Given the description of an element on the screen output the (x, y) to click on. 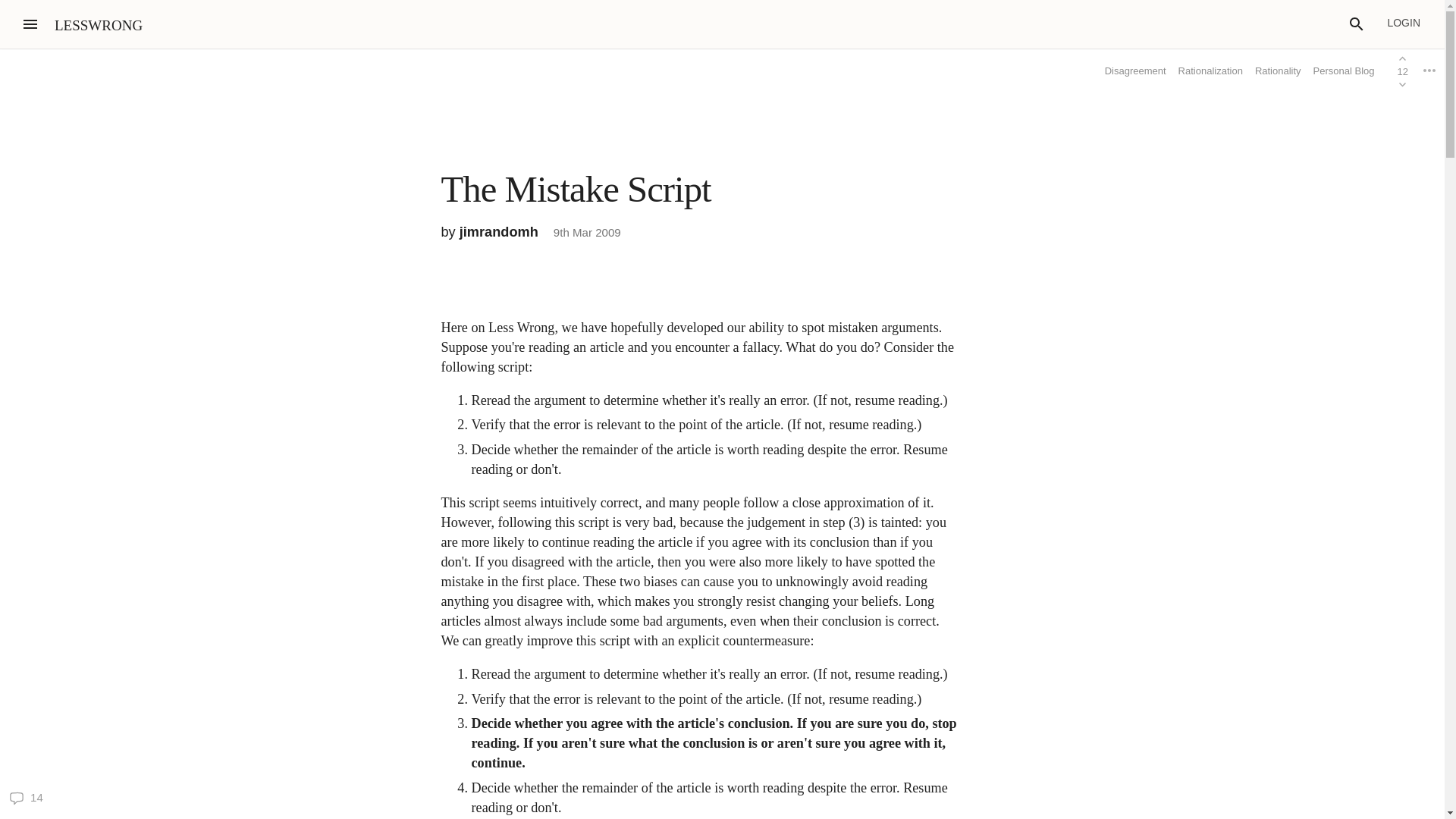
Personal Blog (1343, 70)
jimrandomh (499, 231)
Rationality (1278, 70)
The Mistake Script (576, 188)
LOGIN (1403, 22)
Disagreement (1135, 70)
LESSWRONG (98, 25)
Rationalization (1210, 70)
